Given the description of an element on the screen output the (x, y) to click on. 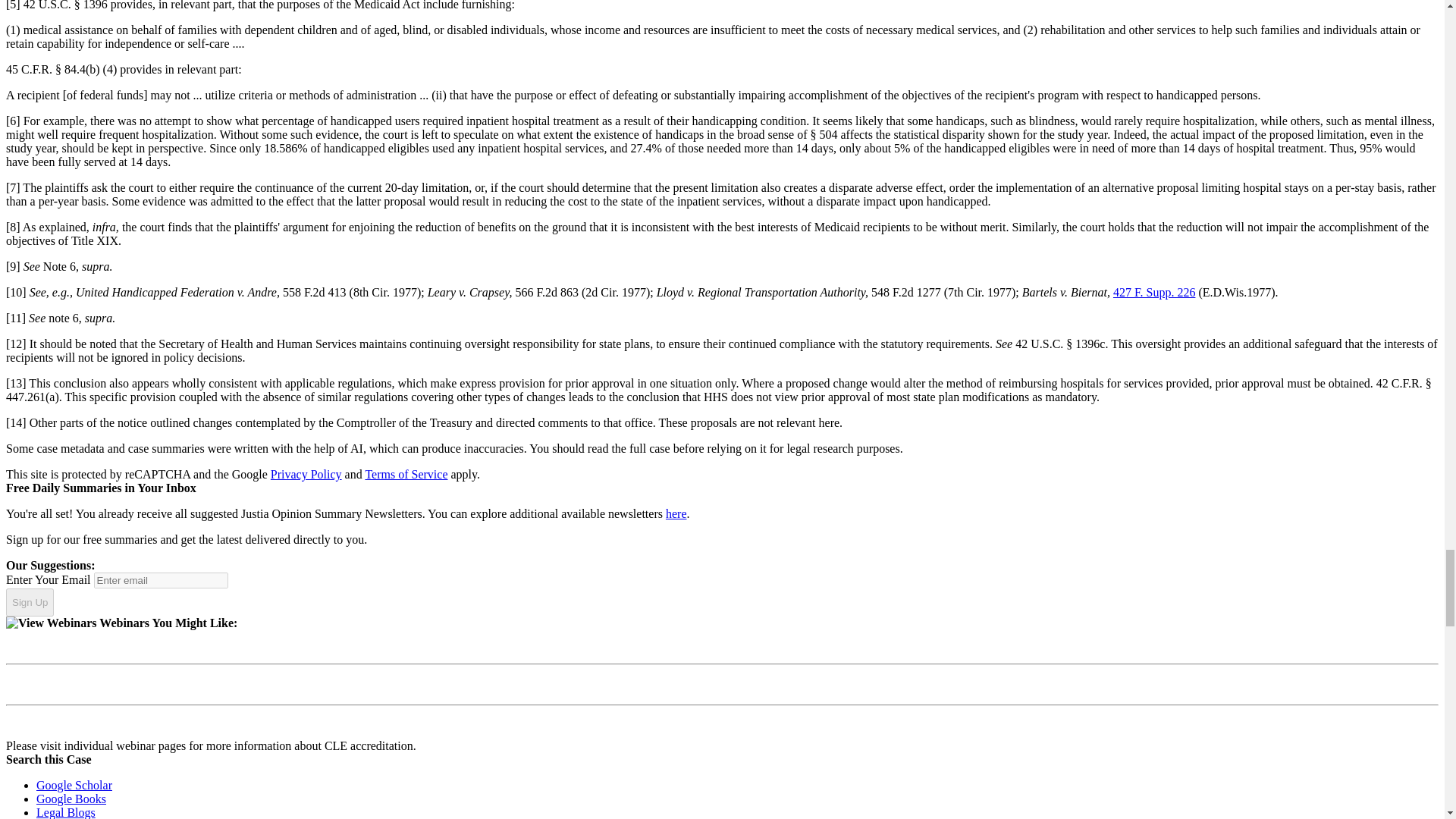
Law - Legal Blogs (66, 812)
Law - Google Scholar (74, 784)
Sign Up (29, 602)
Enter email (161, 580)
Law - Google Books (71, 798)
